Given the description of an element on the screen output the (x, y) to click on. 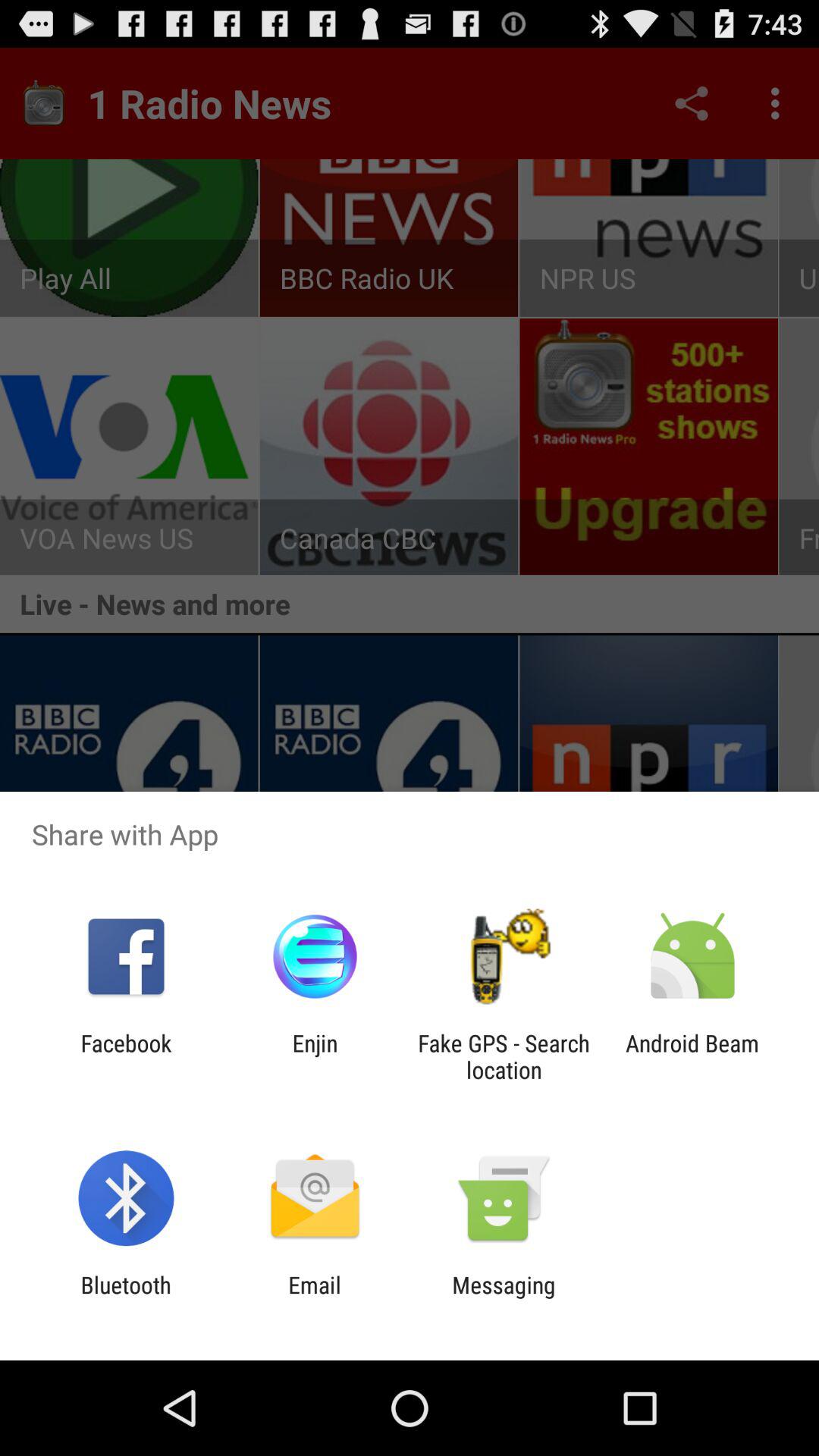
launch the app to the left of the fake gps search app (314, 1056)
